Given the description of an element on the screen output the (x, y) to click on. 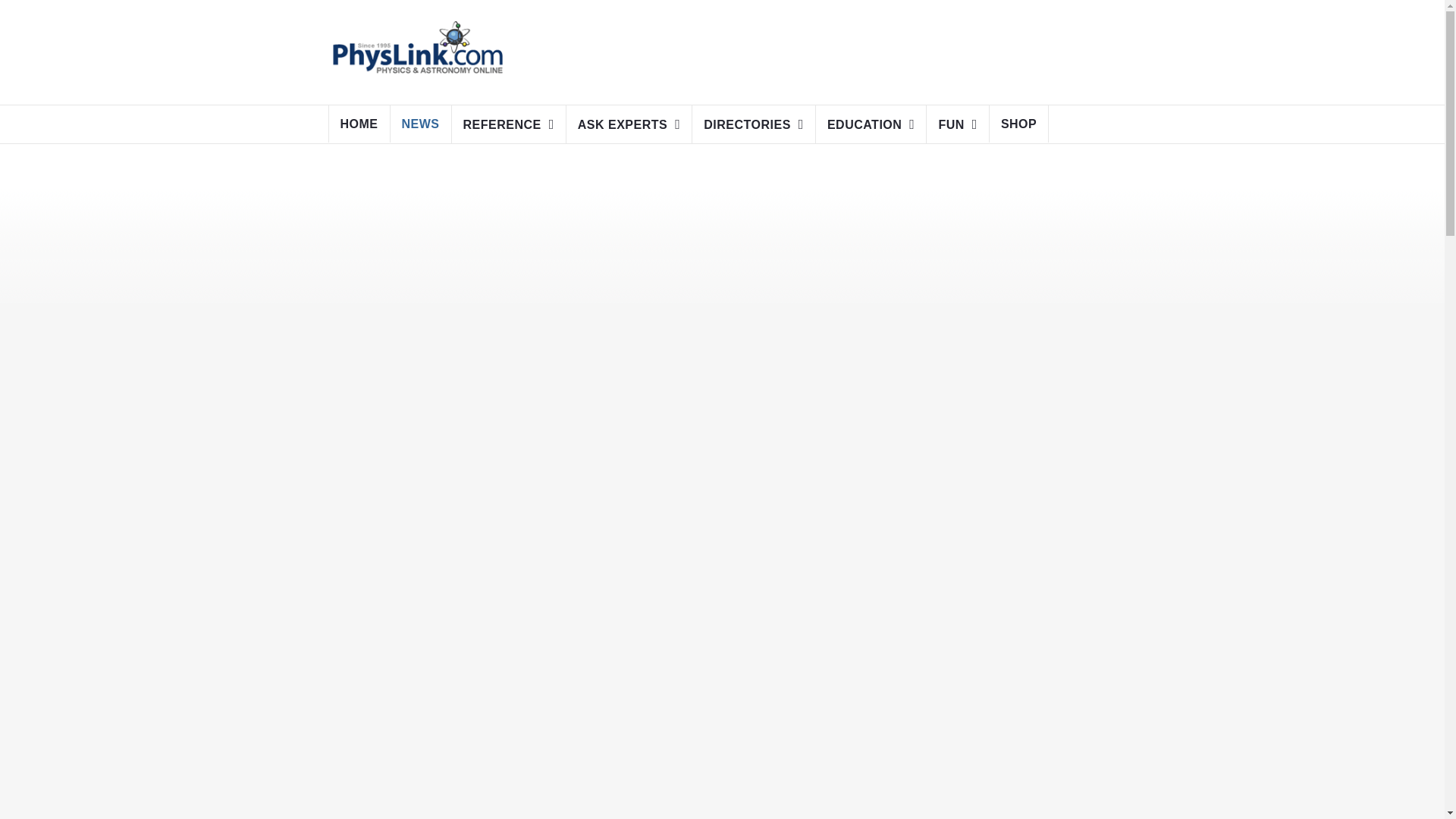
HOME (359, 124)
Advertisement (807, 49)
DIRECTORIES (754, 124)
ASK EXPERTS (629, 124)
REFERENCE (508, 124)
NEWS (419, 124)
